Given the description of an element on the screen output the (x, y) to click on. 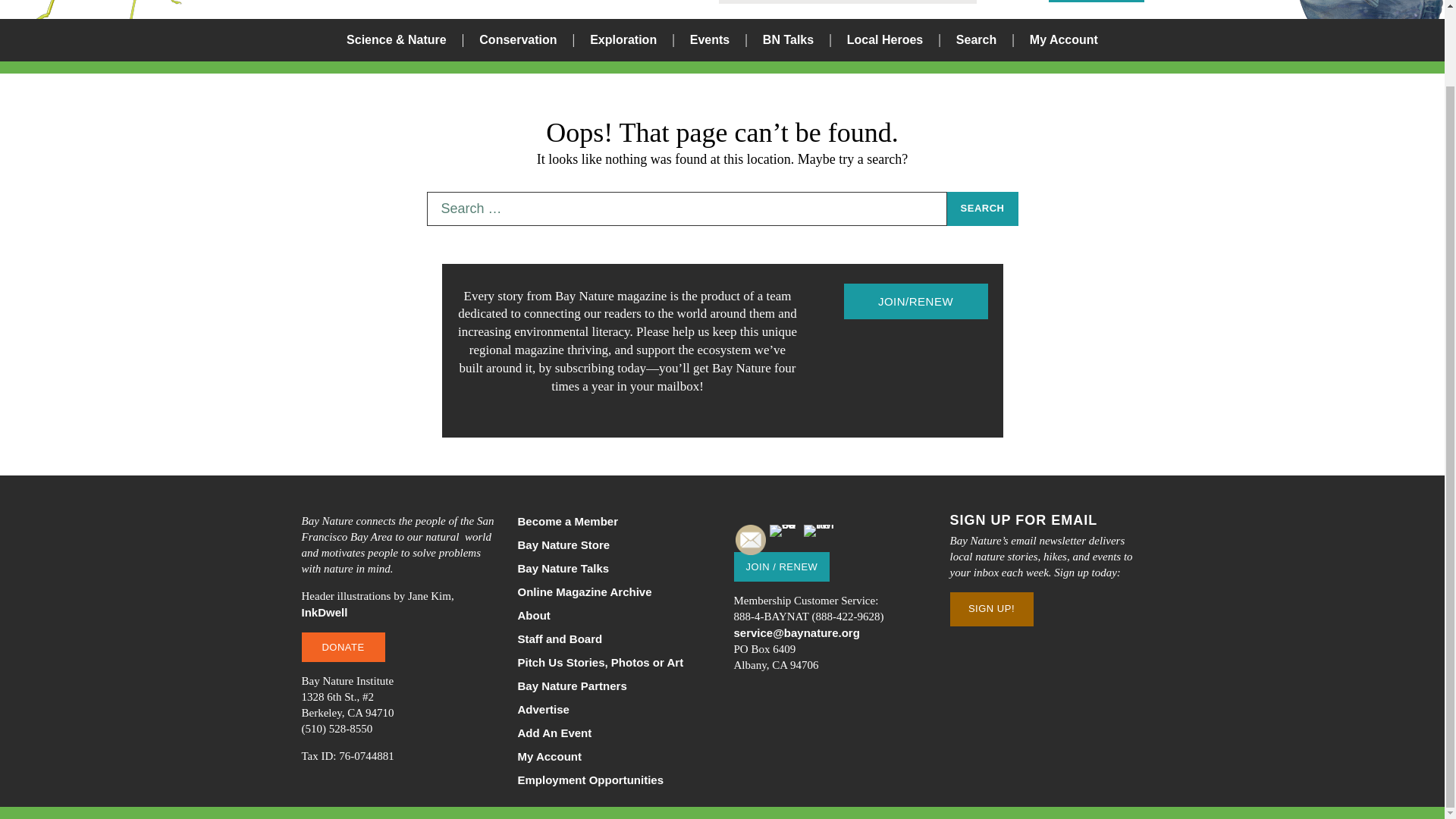
Bay Nature Partners (613, 685)
Add An Event (613, 732)
Online Magazine Archive (613, 591)
About (613, 615)
Follow by Email (750, 539)
My Account (1063, 39)
Employment Opportunities (613, 779)
Search (879, 323)
InkDwell (324, 612)
Advertise (613, 709)
